Given the description of an element on the screen output the (x, y) to click on. 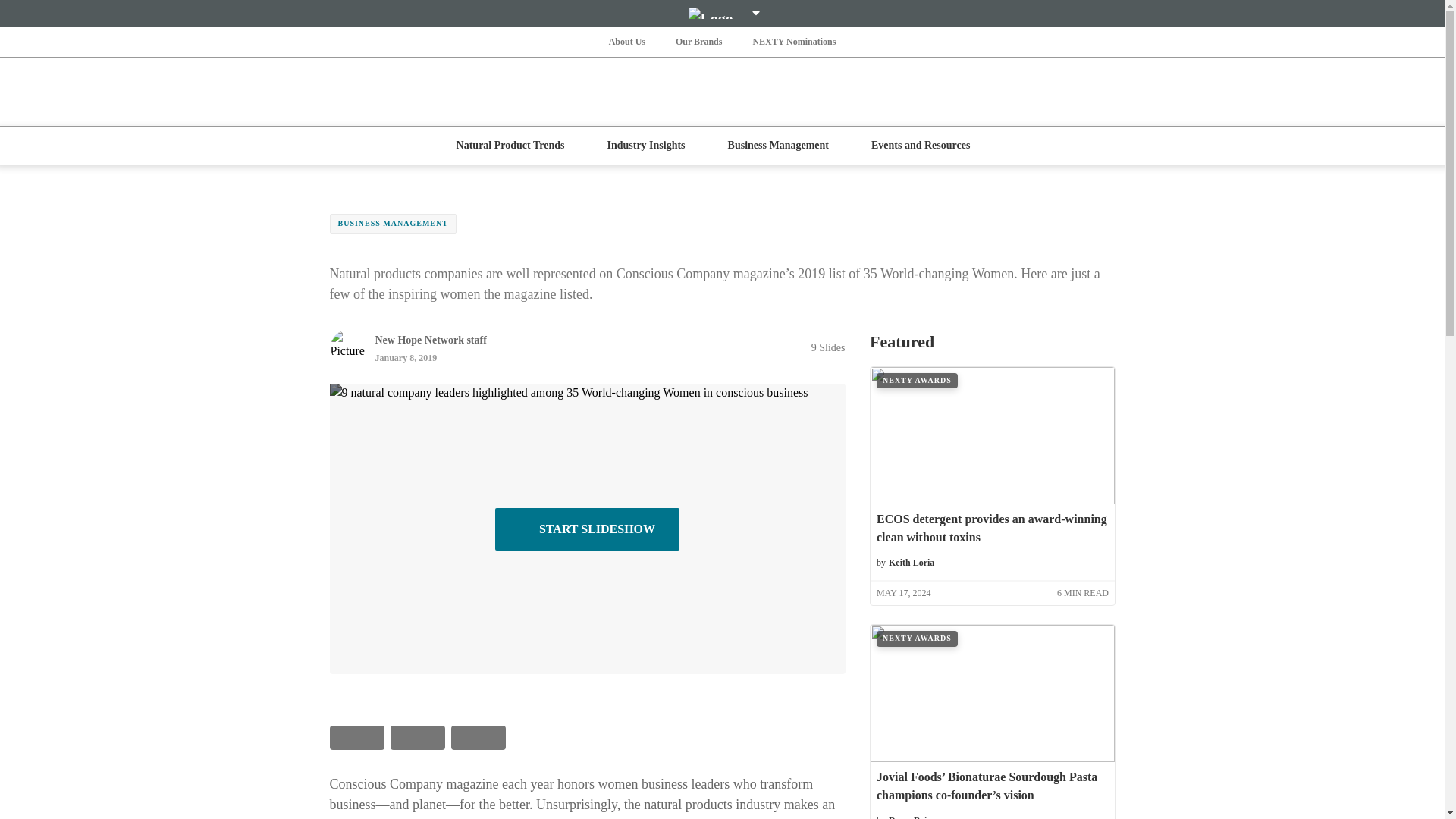
Picture of New Hope Network staff (347, 347)
Our Brands (698, 41)
About Us (626, 41)
NEXTY Nominations (793, 41)
